Given the description of an element on the screen output the (x, y) to click on. 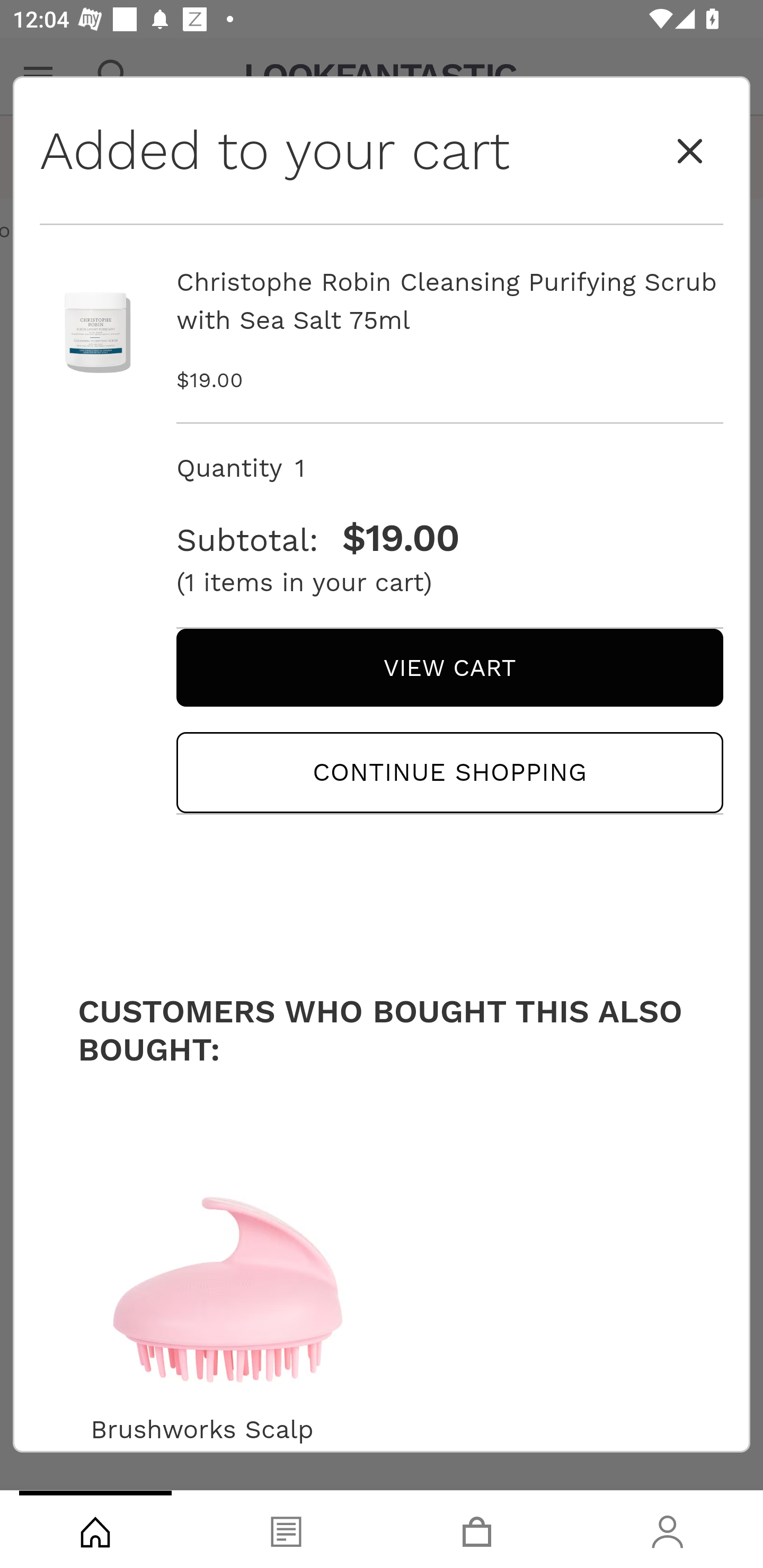
Close (689, 151)
VIEW CART (449, 667)
CONTINUE SHOPPING (449, 771)
Add to cart (381, 1413)
Shop, tab, 1 of 4 (95, 1529)
Blog, tab, 2 of 4 (285, 1529)
Basket, tab, 3 of 4 (476, 1529)
Account, tab, 4 of 4 (667, 1529)
